Given the description of an element on the screen output the (x, y) to click on. 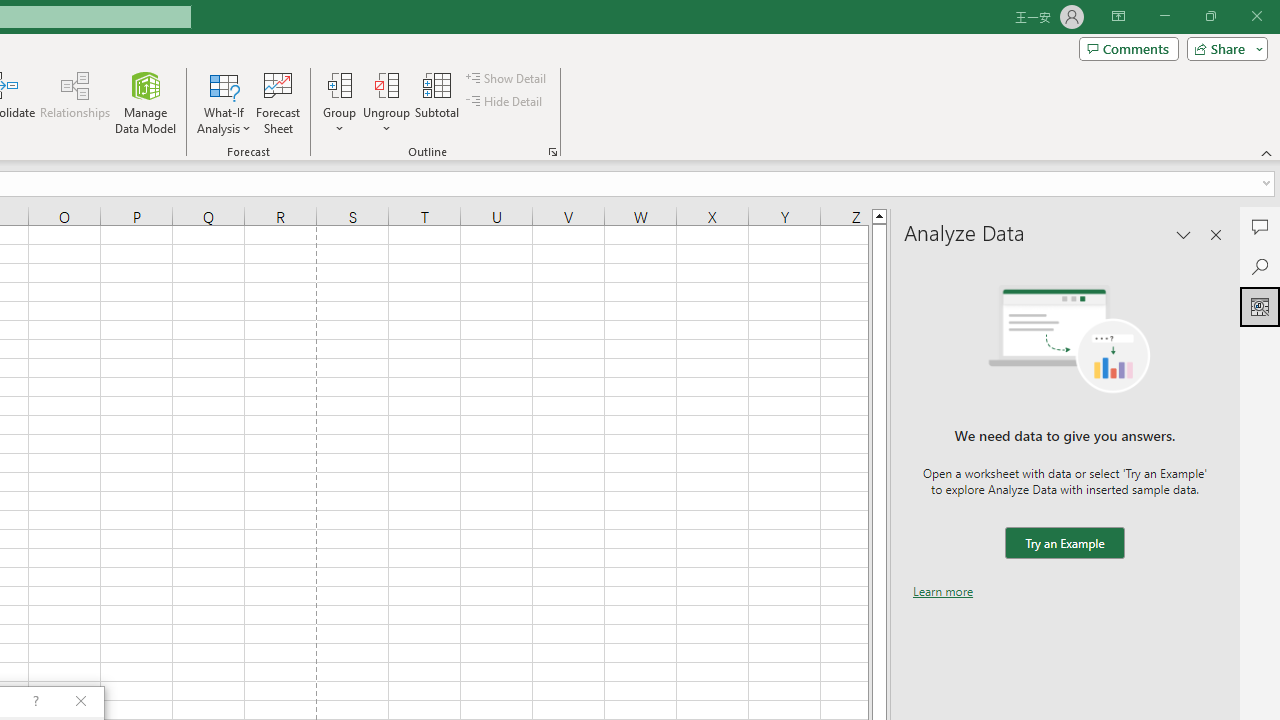
Show Detail (507, 78)
Manage Data Model (145, 102)
What-If Analysis (223, 102)
Group and Outline Settings (552, 151)
We need data to give you answers. Try an Example (1064, 543)
Relationships (75, 102)
Subtotal (437, 102)
